Given the description of an element on the screen output the (x, y) to click on. 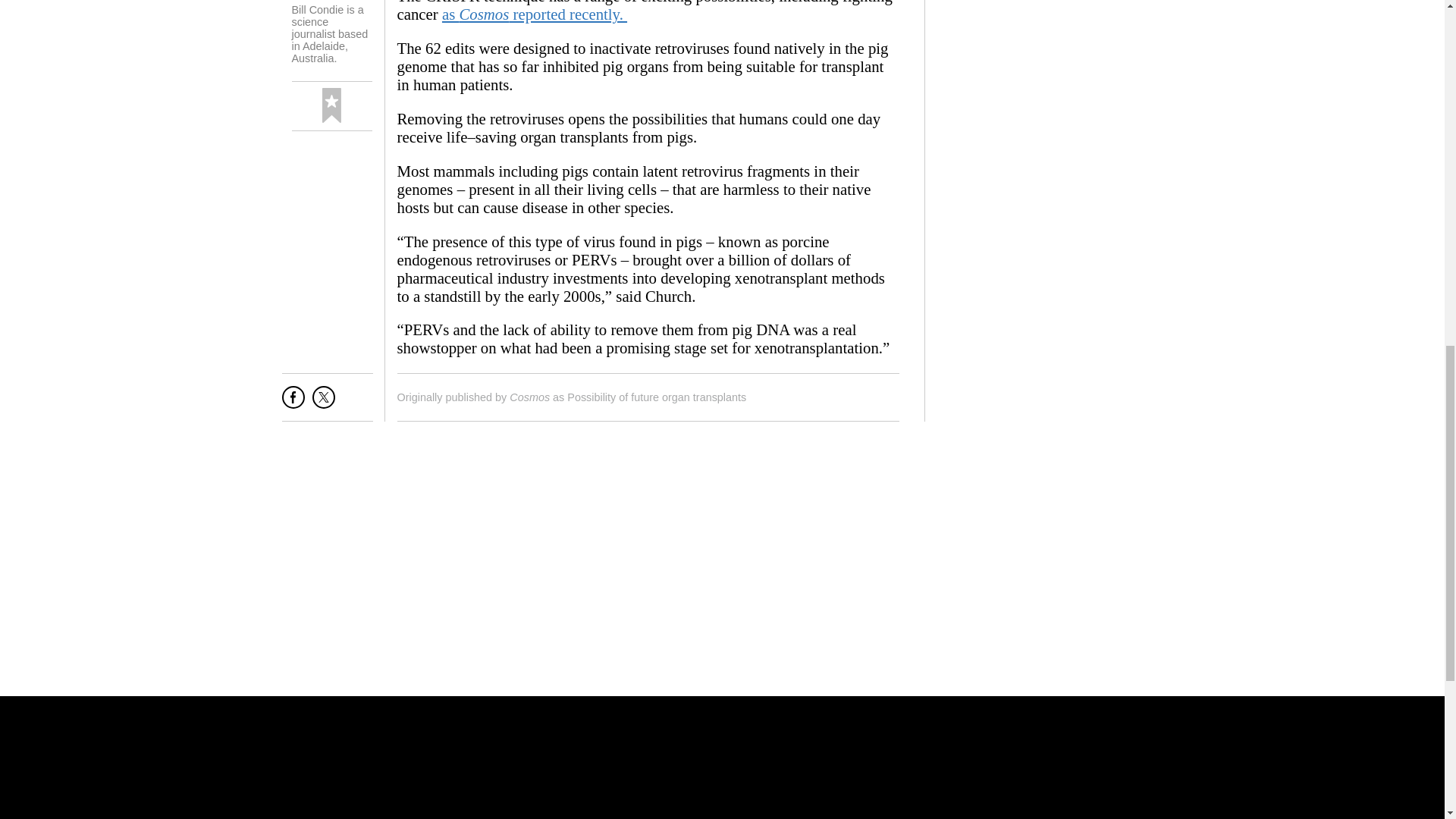
Share on Facebook (293, 402)
Possibility of future organ transplants (656, 397)
Tweet (323, 402)
